Given the description of an element on the screen output the (x, y) to click on. 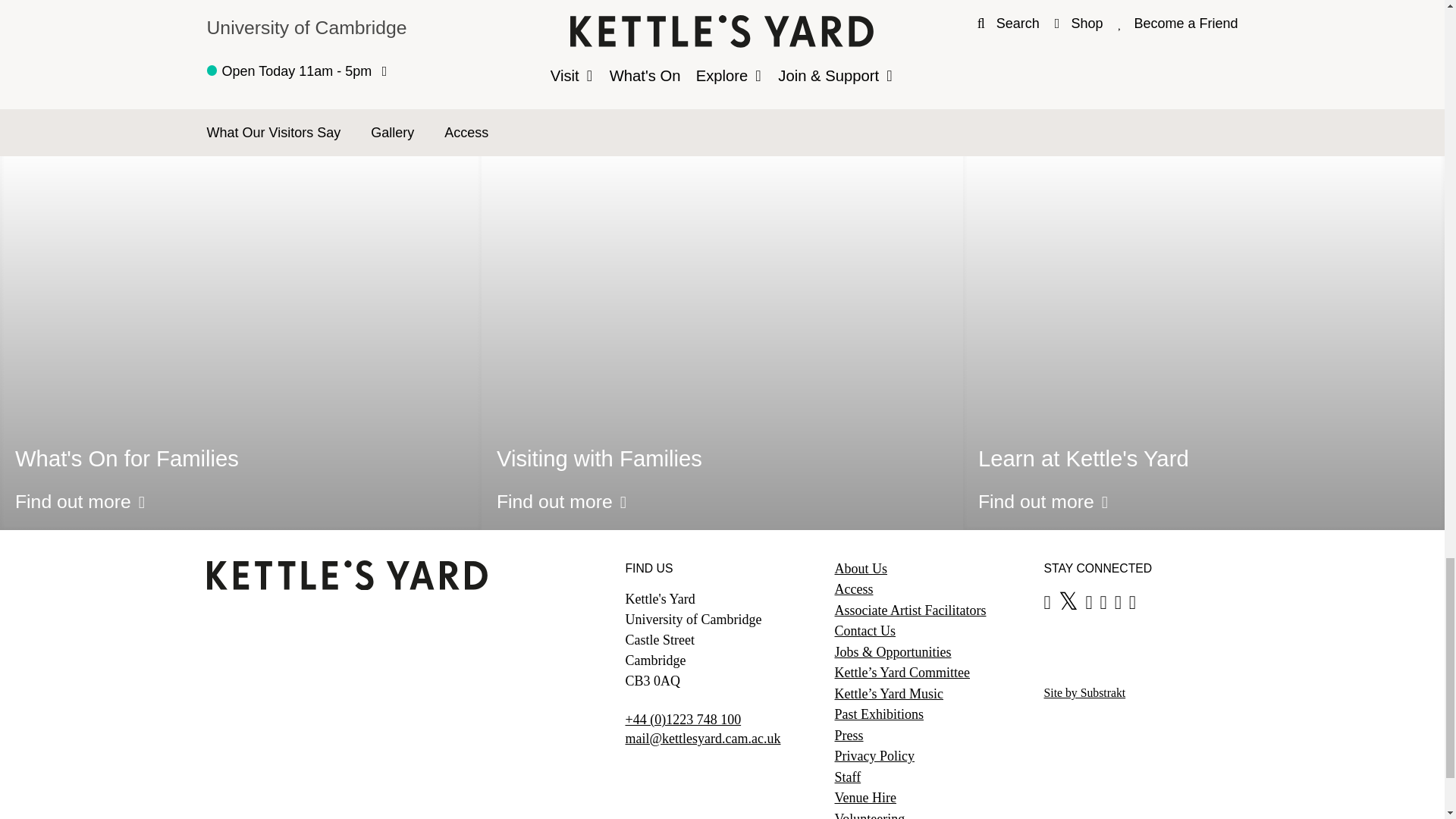
Photo: Paul Allitt (721, 37)
Kettle's Yard (346, 585)
